Given the description of an element on the screen output the (x, y) to click on. 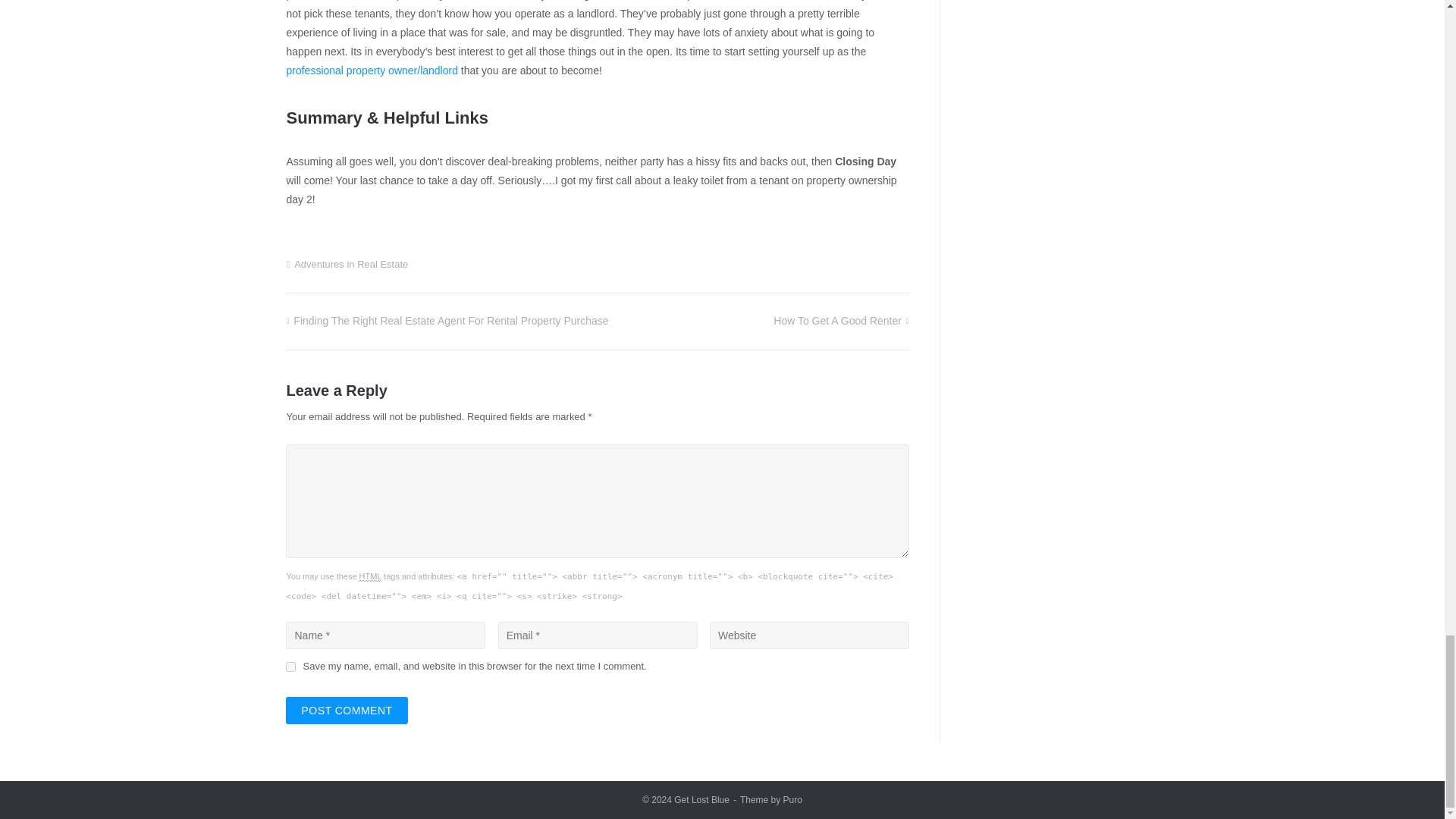
HyperText Markup Language (370, 576)
How To Get A Good Renter (840, 320)
Get Lost Blue (701, 799)
Post Comment (346, 709)
Post Comment (346, 709)
Adventures in Real Estate (350, 264)
Puro (792, 799)
yes (290, 665)
